Given the description of an element on the screen output the (x, y) to click on. 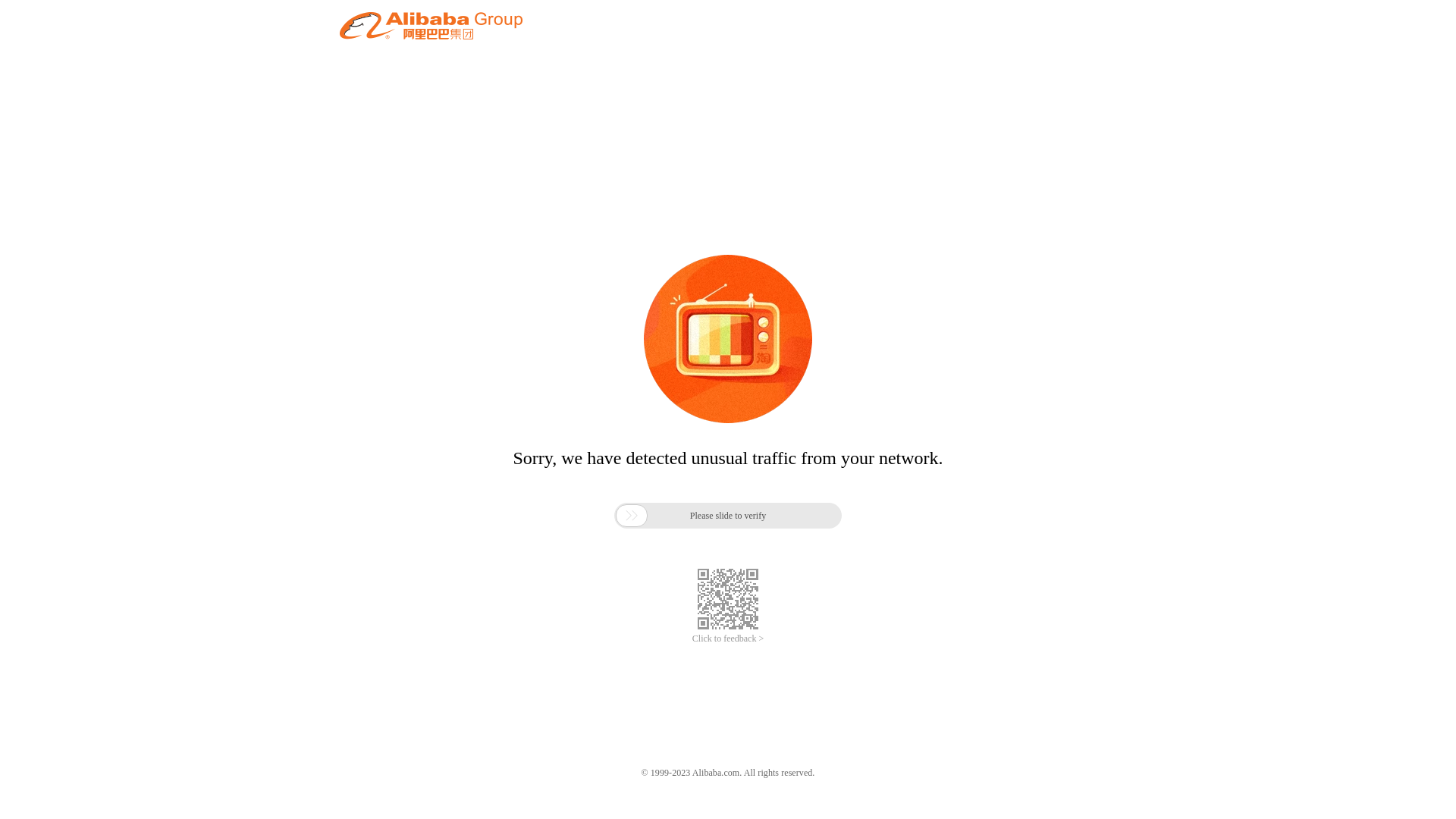
Click to feedback > Element type: text (727, 638)
